Given the description of an element on the screen output the (x, y) to click on. 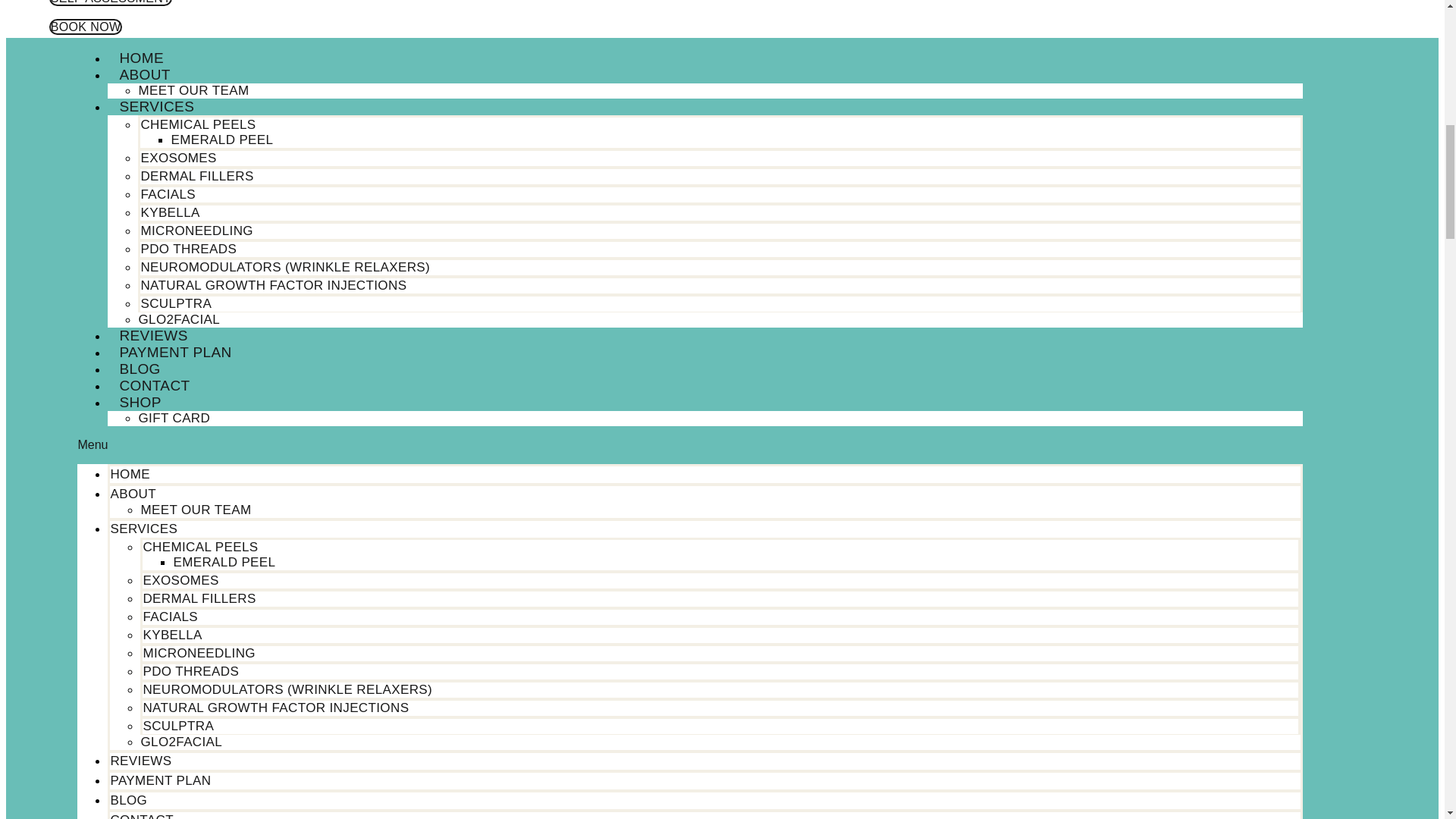
NATURAL GROWTH FACTOR INJECTIONS (272, 285)
EXOSOMES (177, 157)
BOOK NOW (85, 26)
FACIALS (167, 194)
PDO THREADS (187, 248)
BLOG (139, 368)
DERMAL FILLERS (199, 598)
EMERALD PEEL (221, 139)
SHOP (139, 402)
FACIALS (170, 616)
GIFT CARD (173, 418)
ABOUT (132, 493)
HOME (129, 473)
CONTACT (153, 385)
MICRONEEDLING (196, 230)
